Given the description of an element on the screen output the (x, y) to click on. 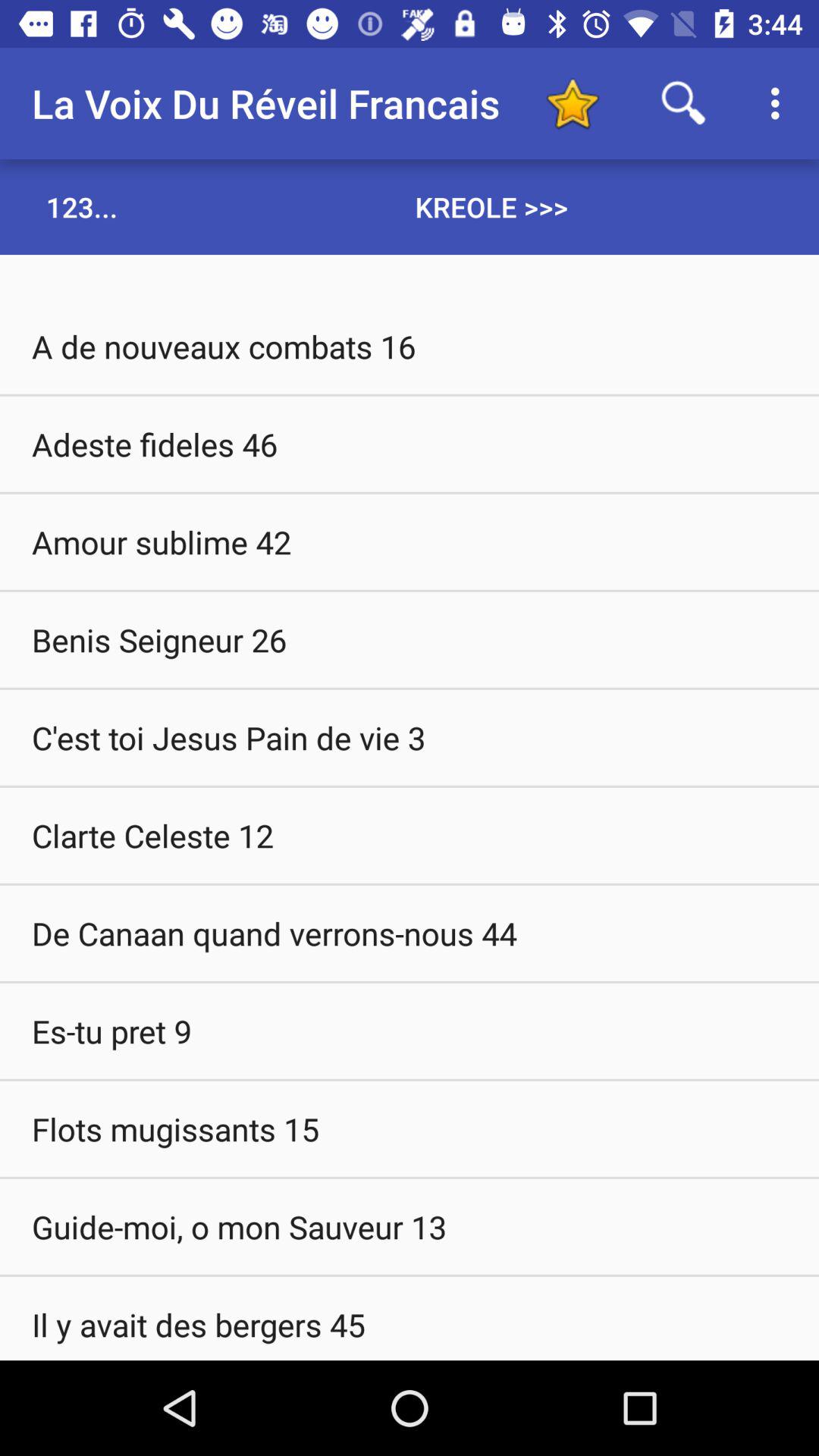
open the icon to the right of the la voix du icon (571, 103)
